Given the description of an element on the screen output the (x, y) to click on. 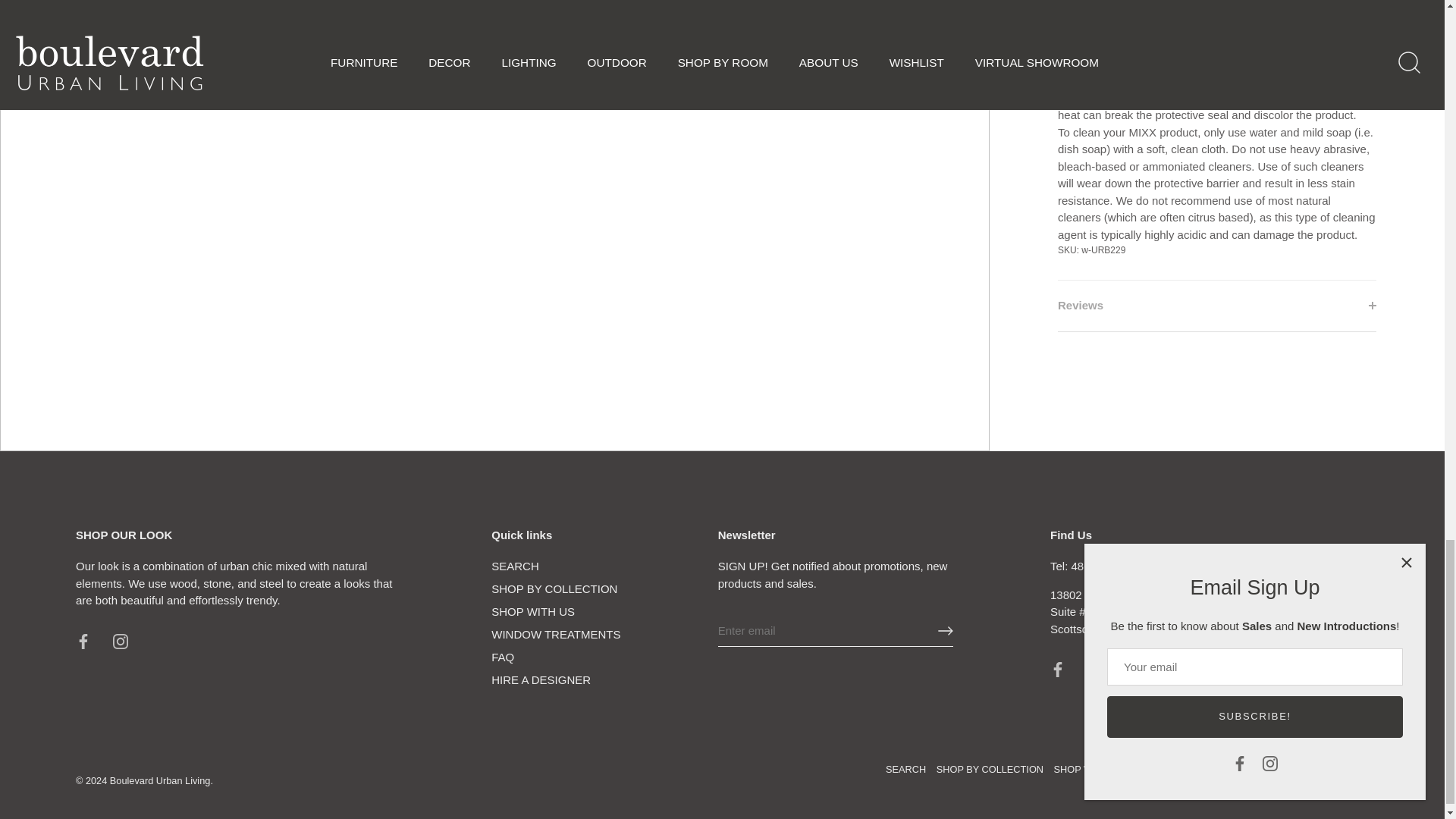
RIGHT ARROW LONG (945, 630)
Instagram (120, 641)
Instagram (1094, 669)
